Given the description of an element on the screen output the (x, y) to click on. 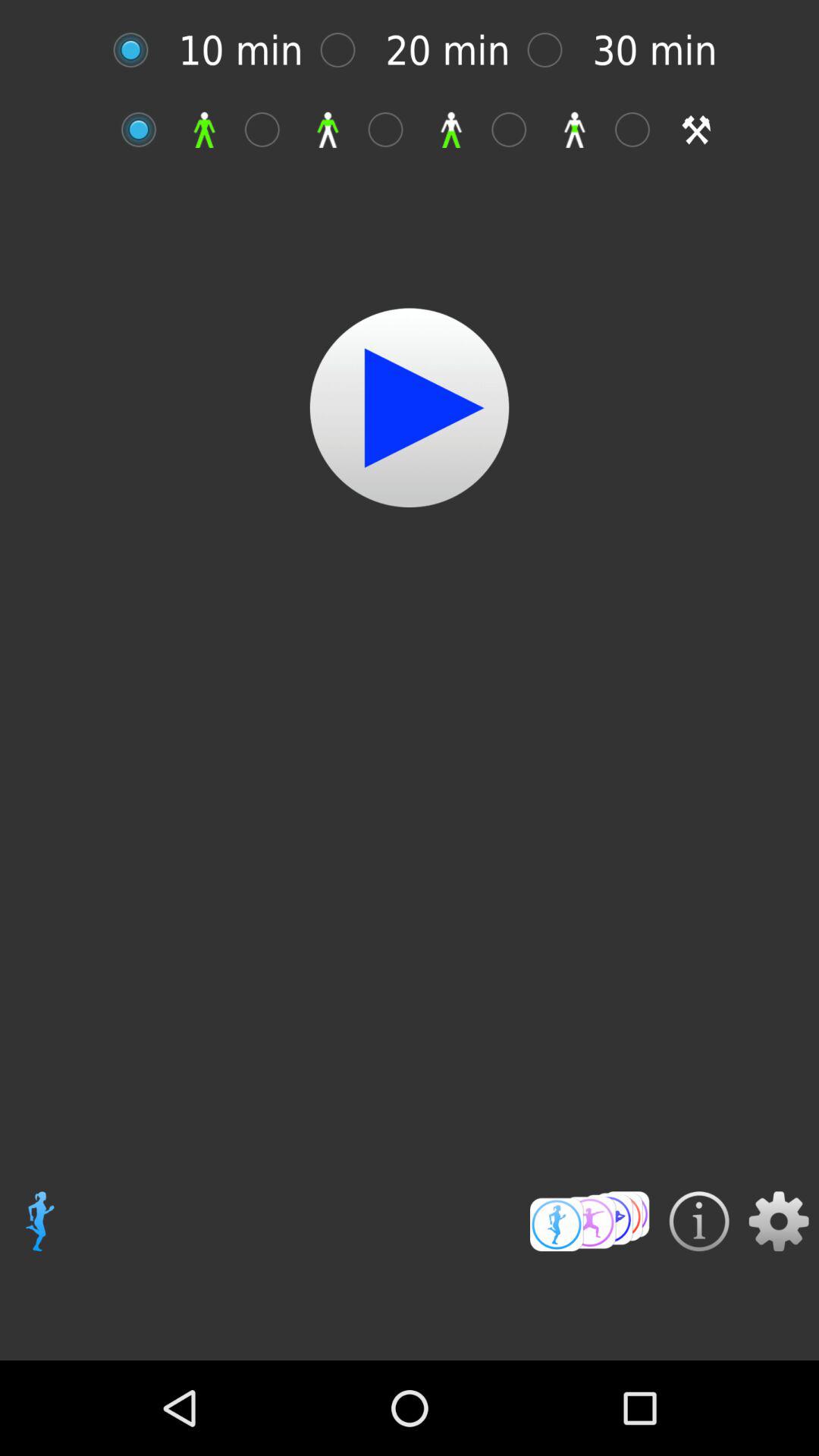
select third option (393, 129)
